Given the description of an element on the screen output the (x, y) to click on. 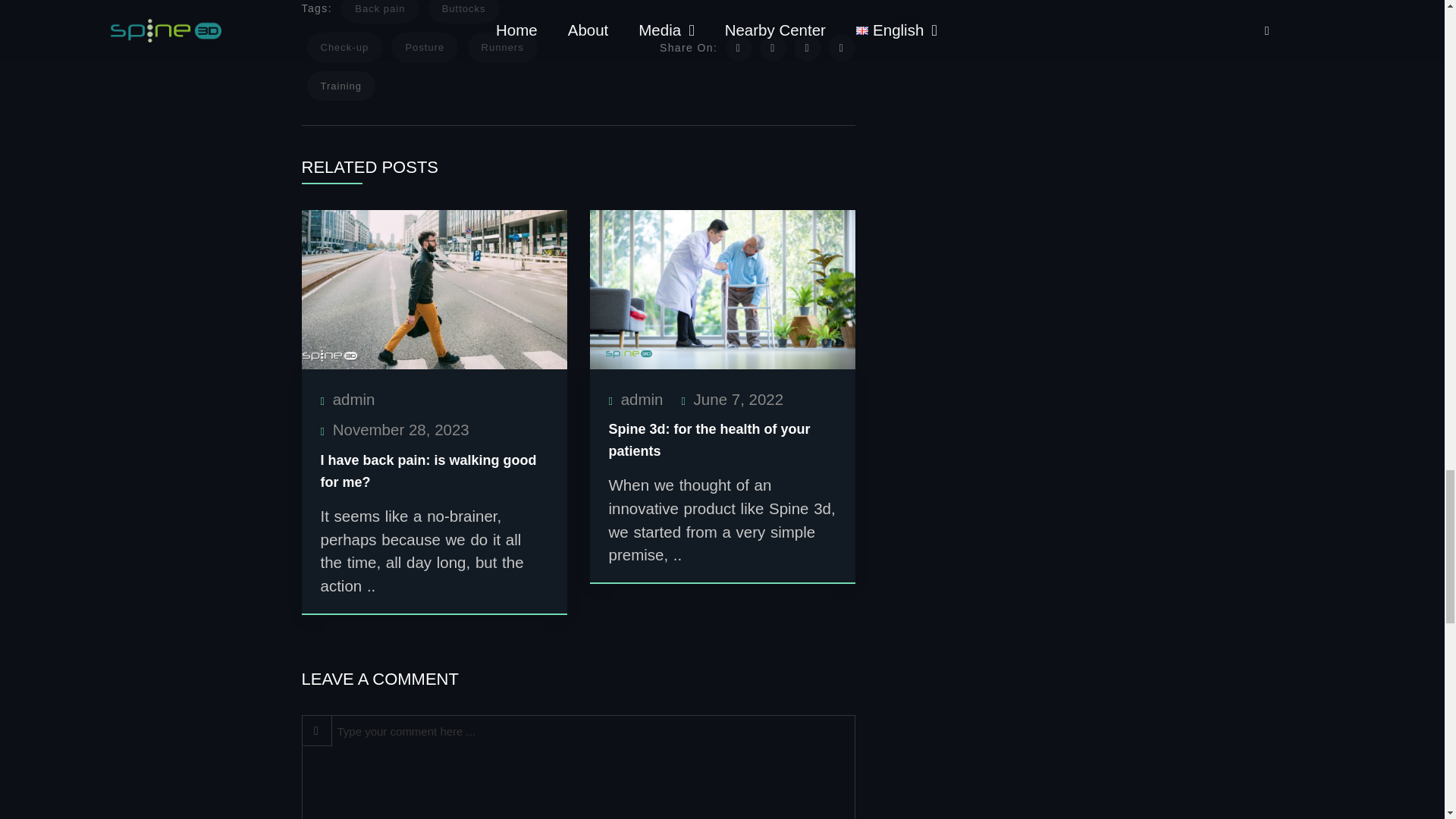
Pin This (807, 48)
I have back pain: is walking good for me? (434, 287)
Spine 3d: for the health of your patients (722, 287)
Tweet this (738, 48)
Posts by admin (354, 398)
Posts by admin (642, 398)
Share on Facebook (773, 48)
